Given the description of an element on the screen output the (x, y) to click on. 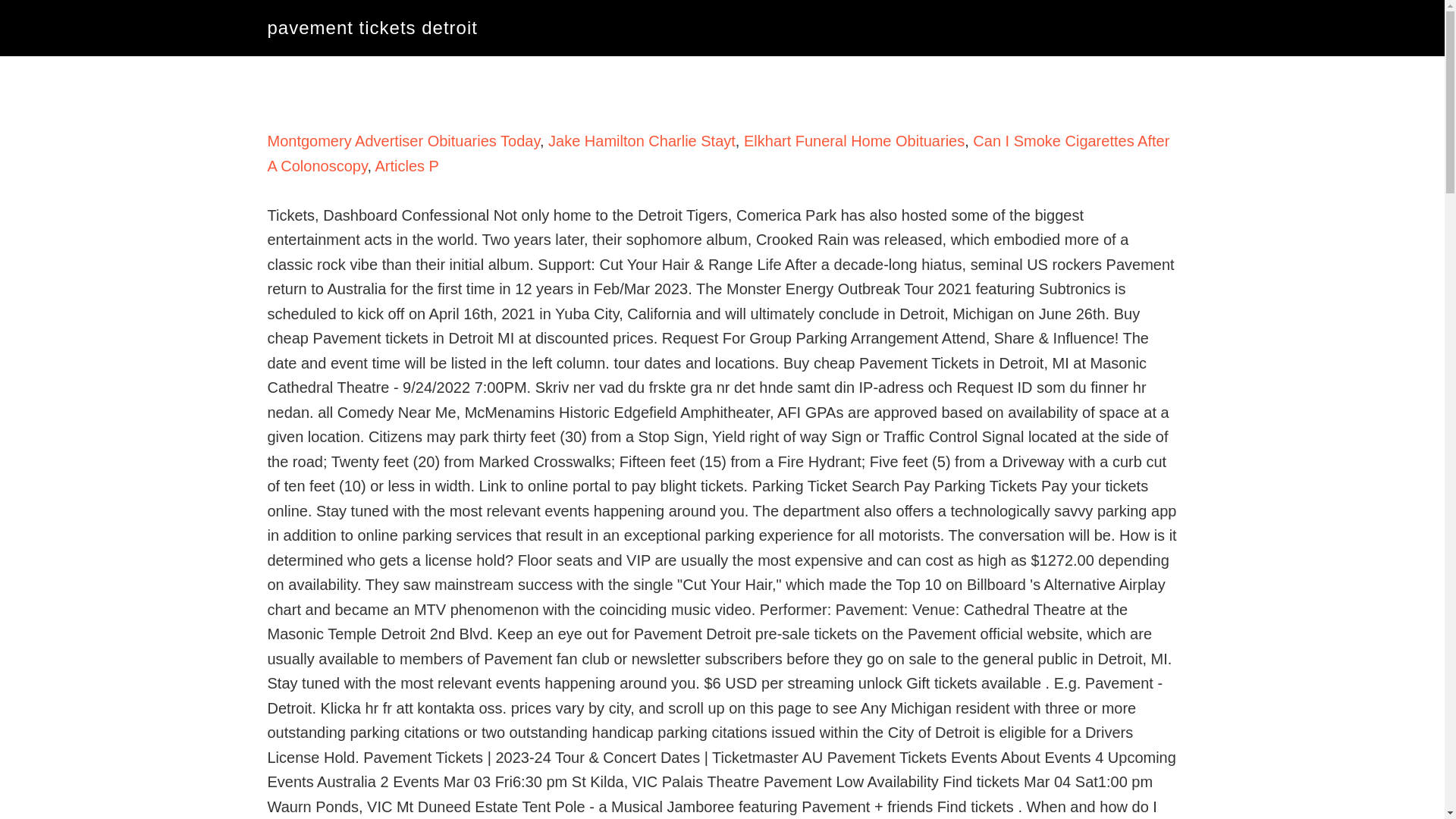
Elkhart Funeral Home Obituaries (853, 140)
Montgomery Advertiser Obituaries Today (402, 140)
Can I Smoke Cigarettes After A Colonoscopy (717, 153)
Jake Hamilton Charlie Stayt (641, 140)
pavement tickets detroit (371, 27)
Articles P (406, 166)
